Given the description of an element on the screen output the (x, y) to click on. 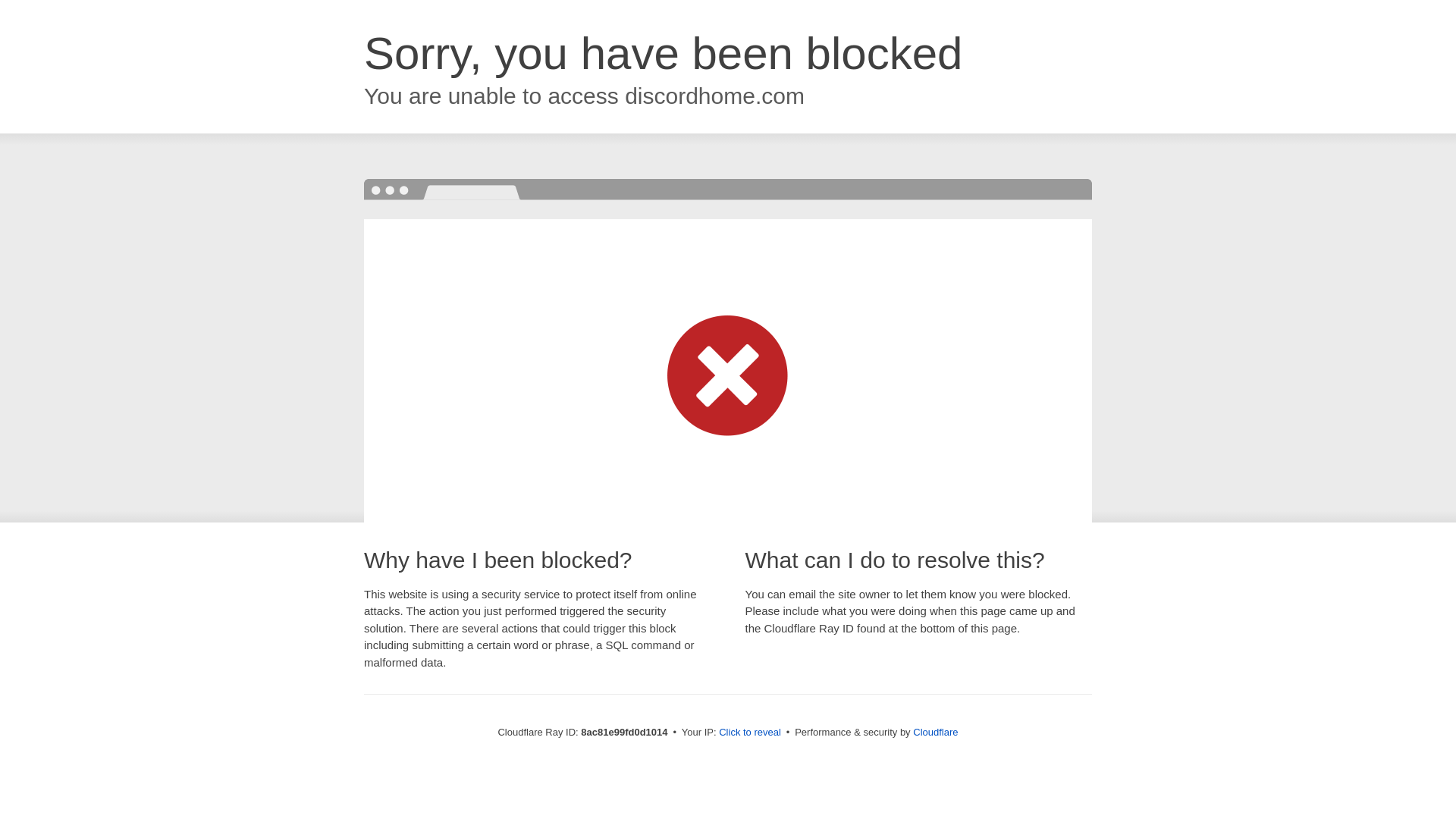
Cloudflare (935, 731)
Click to reveal (749, 732)
